Given the description of an element on the screen output the (x, y) to click on. 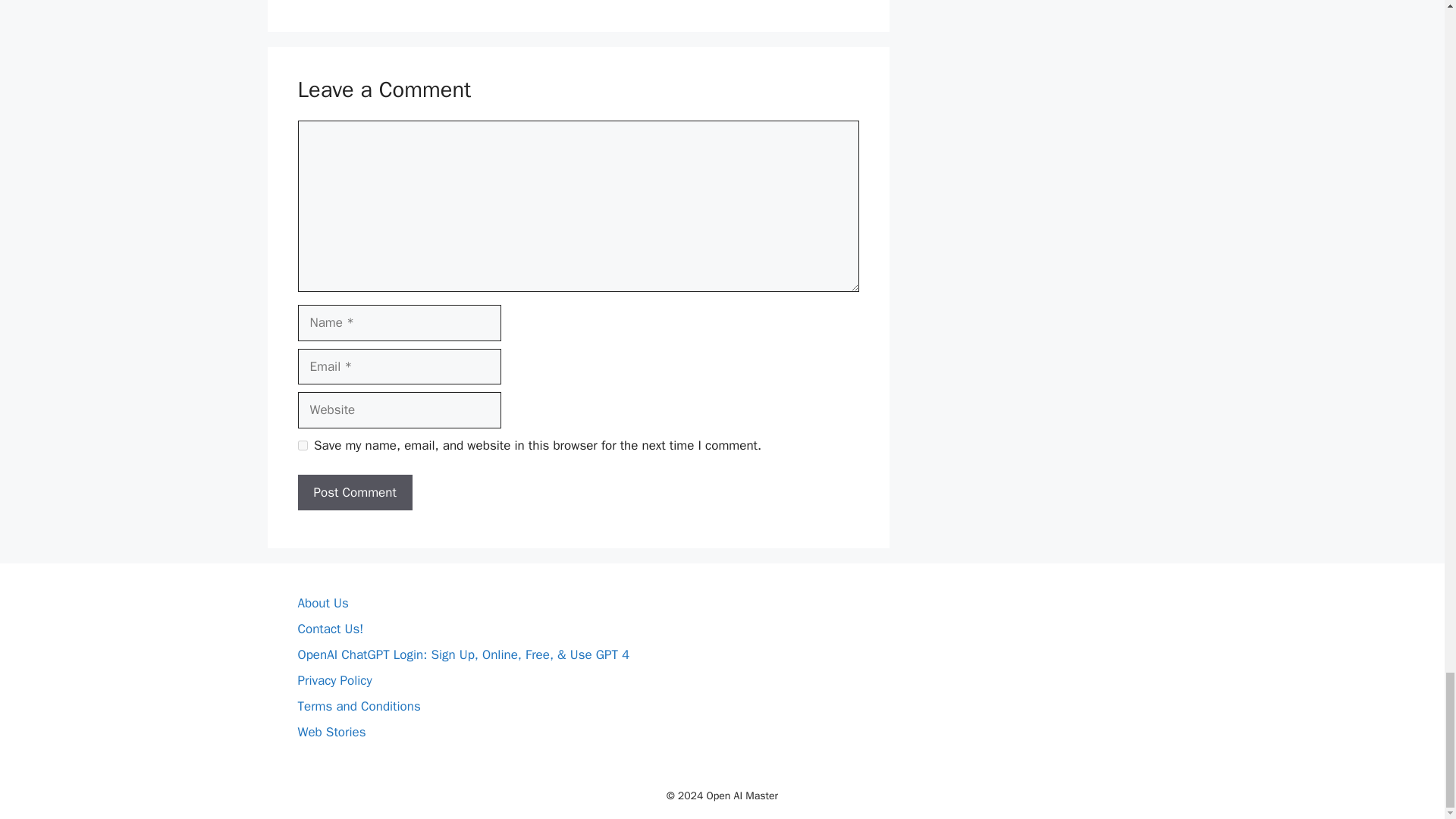
Post Comment (354, 493)
Post Comment (354, 493)
yes (302, 445)
